Given the description of an element on the screen output the (x, y) to click on. 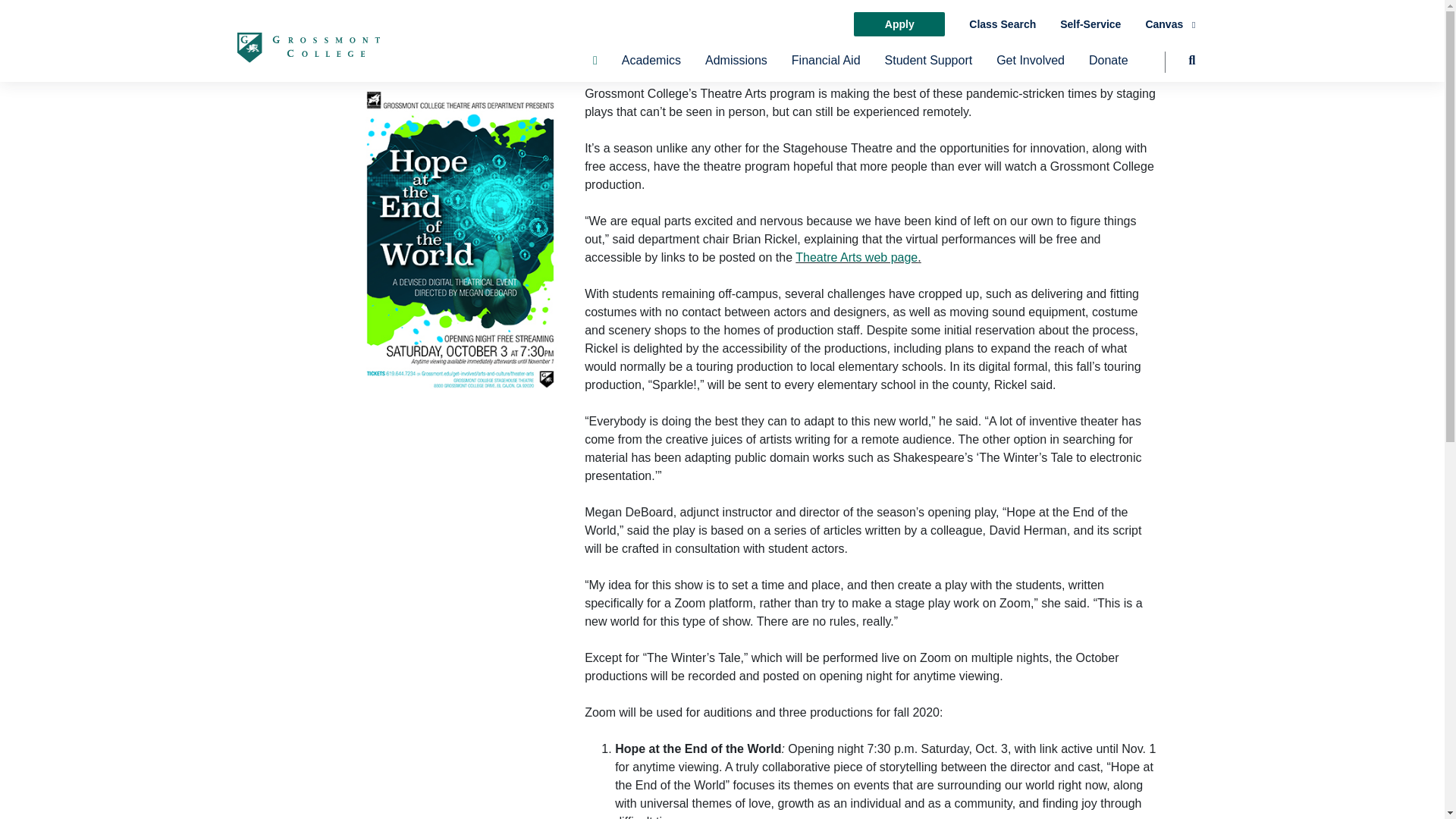
Self-Service (1090, 23)
Apply (898, 24)
Search Button (1179, 66)
Class Search (1002, 23)
Canvas (1169, 23)
Academics (651, 66)
Class Search (1002, 23)
Admissions (735, 66)
Financial Aid (826, 66)
Financial Aid (826, 66)
